Given the description of an element on the screen output the (x, y) to click on. 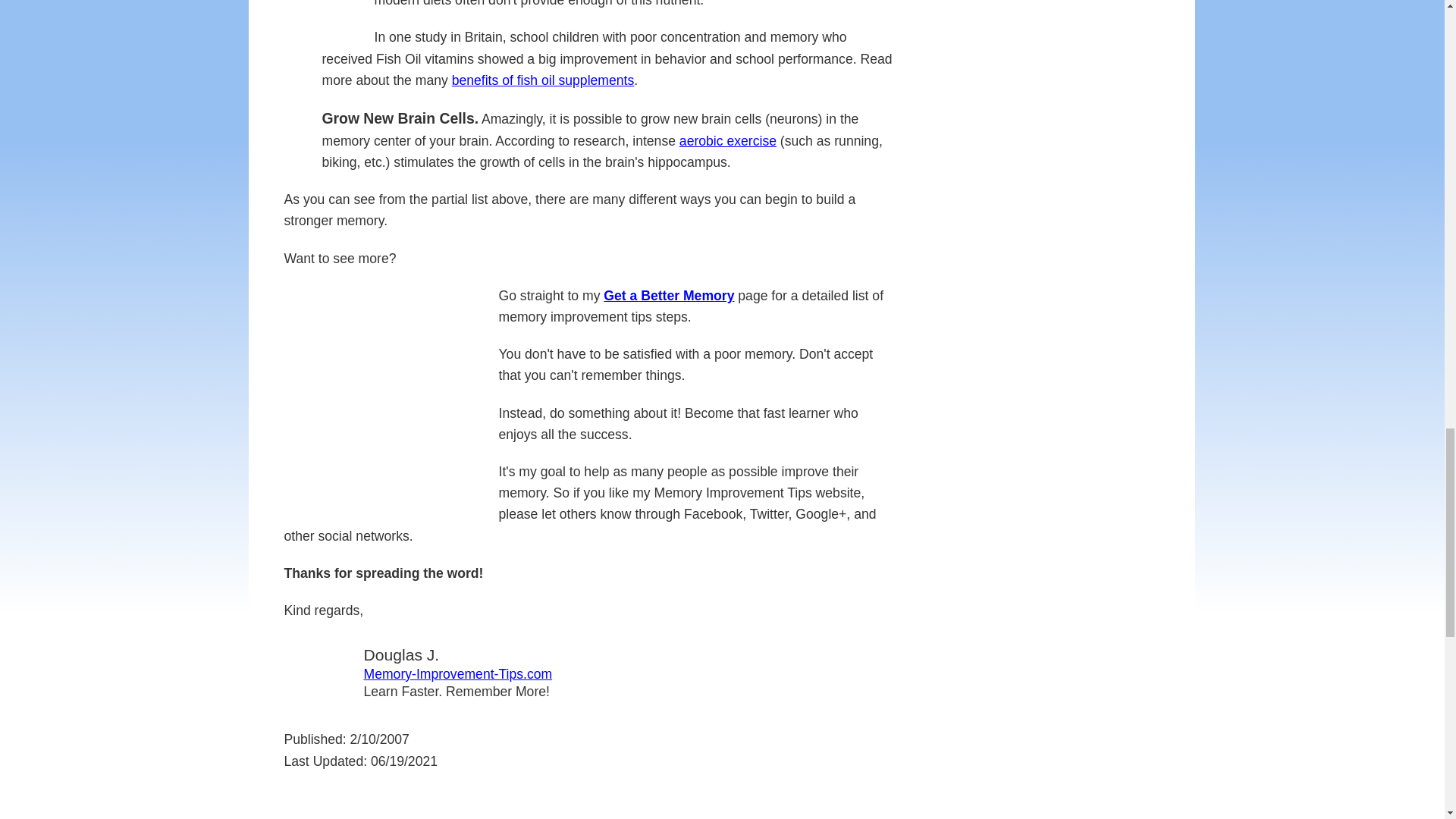
The Memory Guy (317, 671)
Liquid fish oil supplement (343, 15)
Mind Power (384, 396)
